Given the description of an element on the screen output the (x, y) to click on. 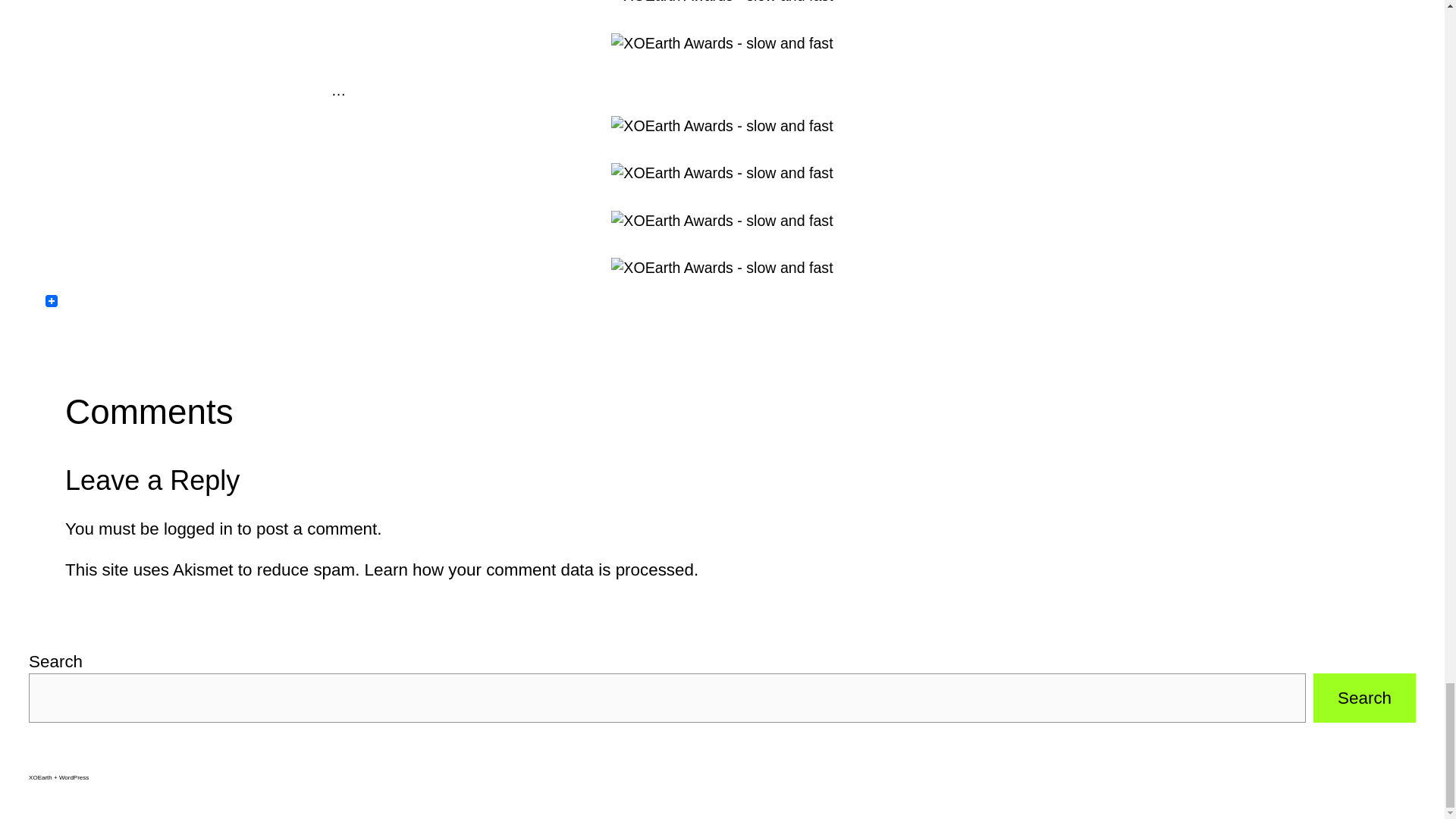
XOEarth Awards - slow and fast (721, 172)
XOEarth Awards - slow and fast (721, 220)
XOEarth Awards - slow and fast (721, 267)
XOEarth Awards - slow and fast (721, 2)
XOEarth Awards - slow and fast (721, 43)
XOEarth Awards - slow and fast (721, 126)
